Given the description of an element on the screen output the (x, y) to click on. 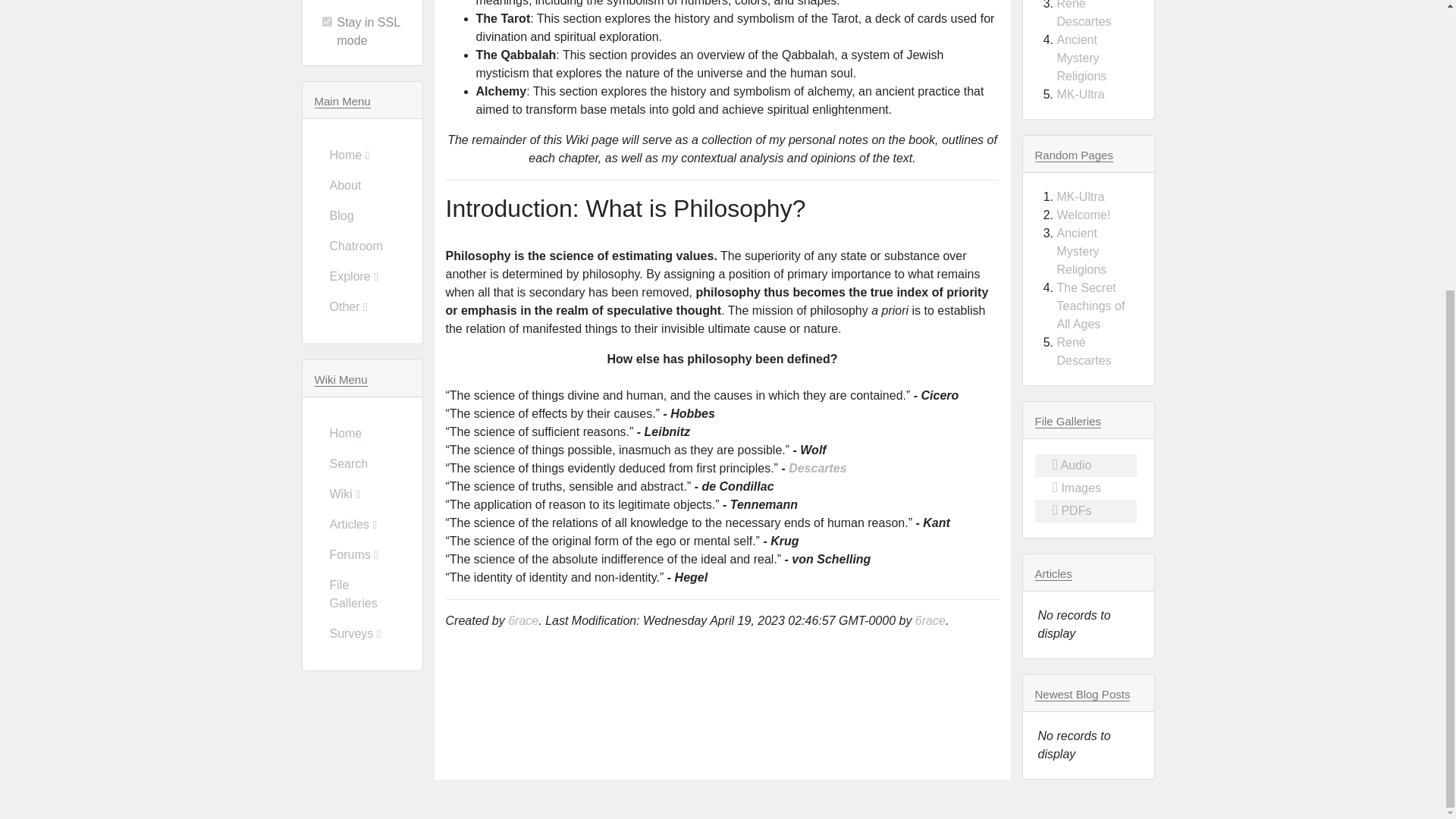
6race (929, 620)
Home (361, 433)
Articles  (361, 524)
About (361, 185)
Explore  (361, 276)
on (326, 21)
Chatroom (361, 245)
Home  (361, 155)
Descartes (818, 468)
Forums  (361, 554)
